Given the description of an element on the screen output the (x, y) to click on. 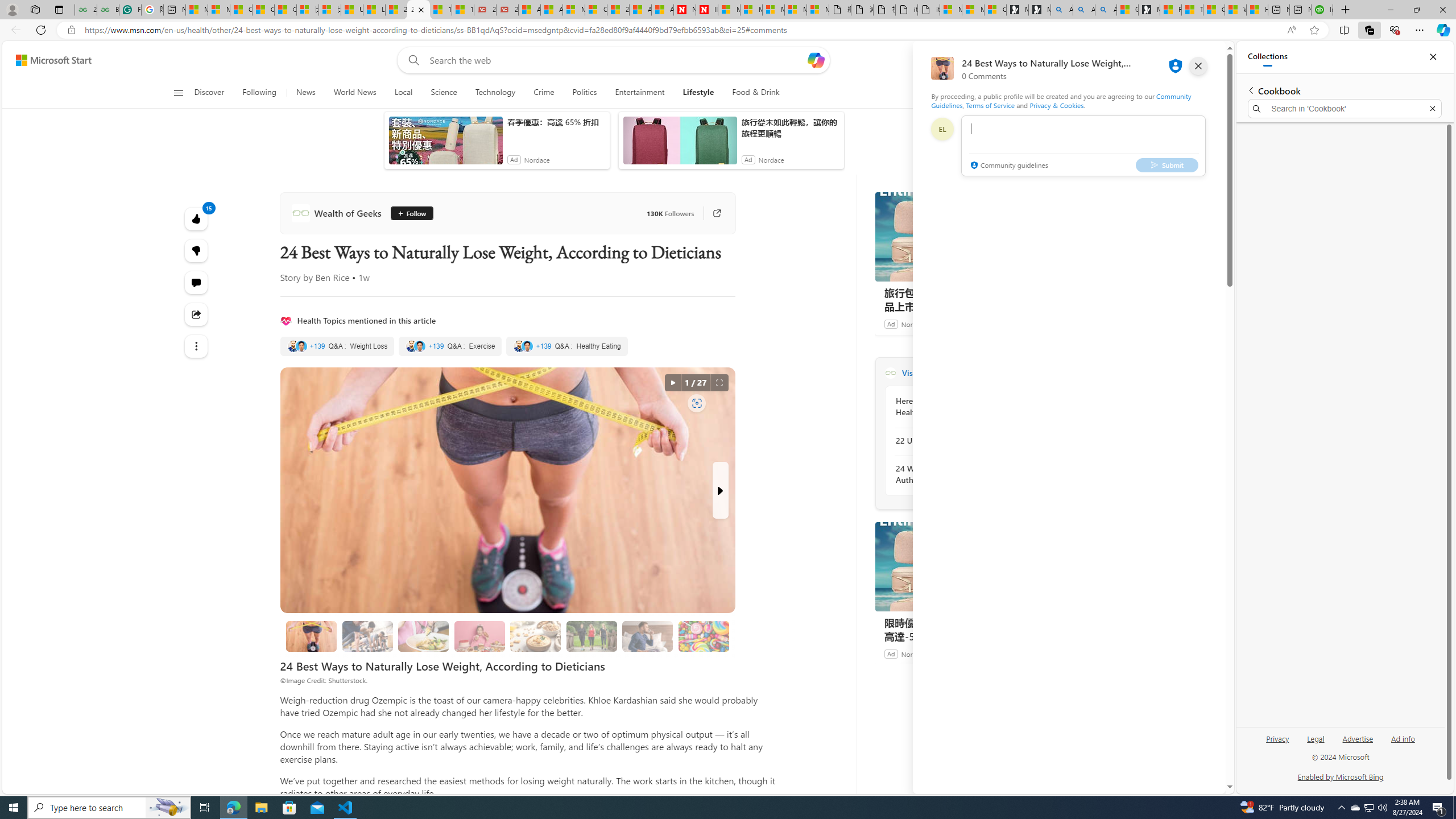
15 Ways Modern Life Contradicts the Teachings of Jesus (462, 9)
Newsweek - News, Analysis, Politics, Business, Technology (684, 9)
Exercise (450, 346)
Search in 'Cookbook' (1345, 108)
comment-box (1082, 145)
USA TODAY - MSN (352, 9)
2. Reduce Your Plate Size (423, 636)
